Given the description of an element on the screen output the (x, y) to click on. 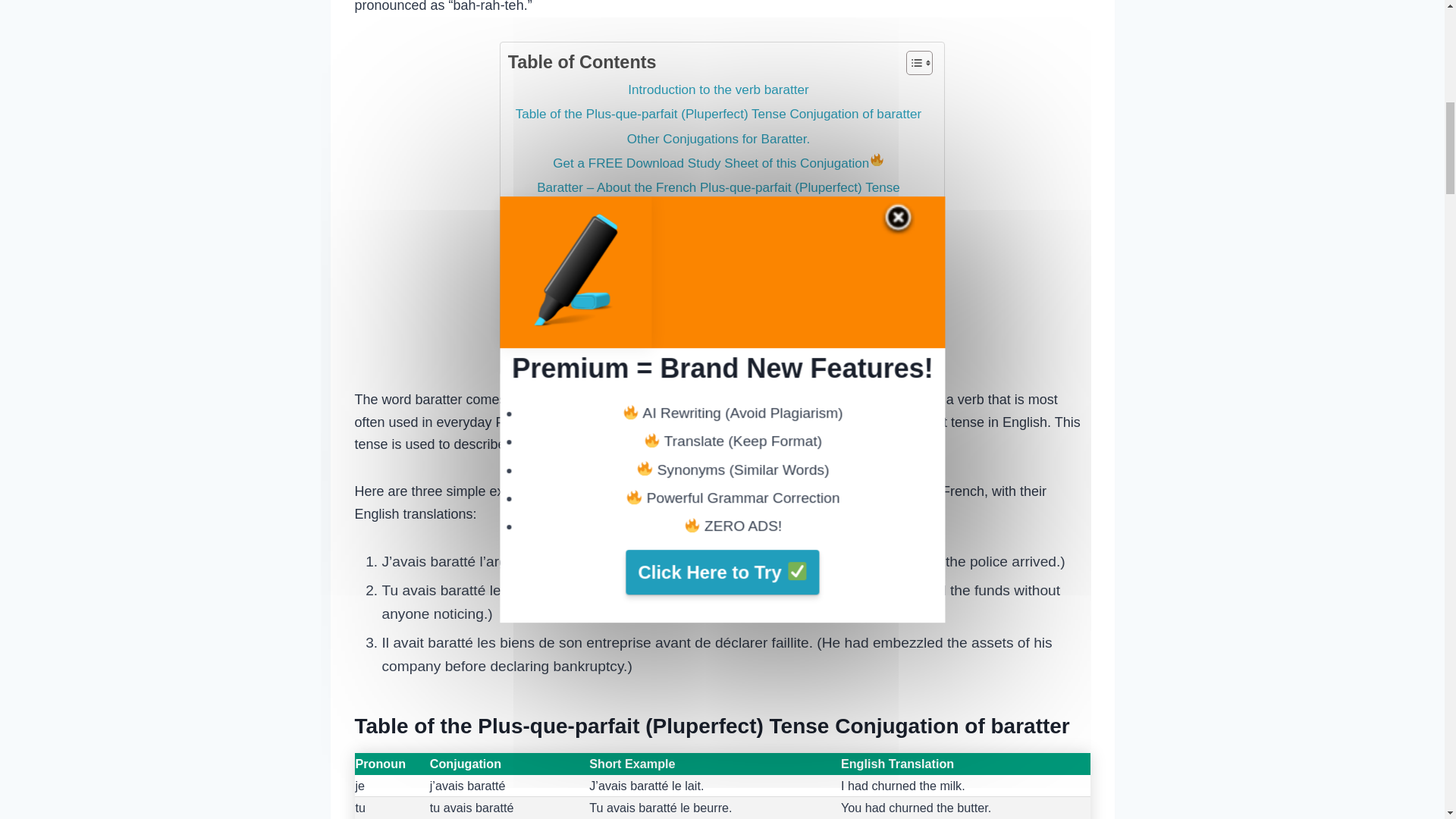
Tense Formation (718, 210)
Summary (718, 354)
Interactions with other tenses (717, 329)
Hypothetical or reported speech (727, 305)
Tense Formation (718, 210)
Get a FREE Download Study Sheet of this Conjugation (717, 161)
Introduction to the verb baratter (718, 87)
Sequencing of past events (727, 259)
Interactions with other tenses (717, 329)
Hypothetical or reported speech (727, 305)
